Given the description of an element on the screen output the (x, y) to click on. 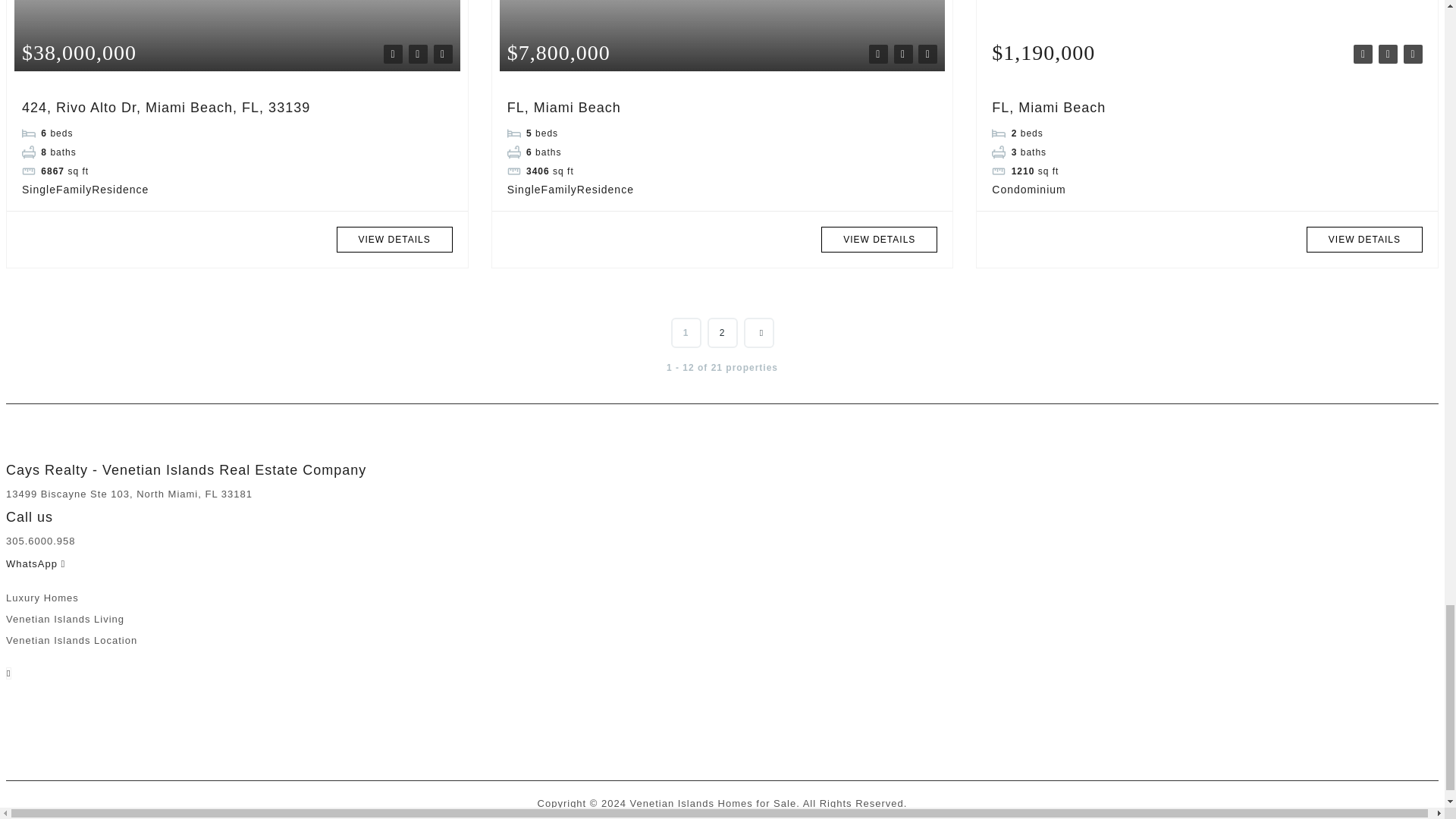
Florida IDX (68, 711)
Equal Housing Opportunity (40, 711)
